Given the description of an element on the screen output the (x, y) to click on. 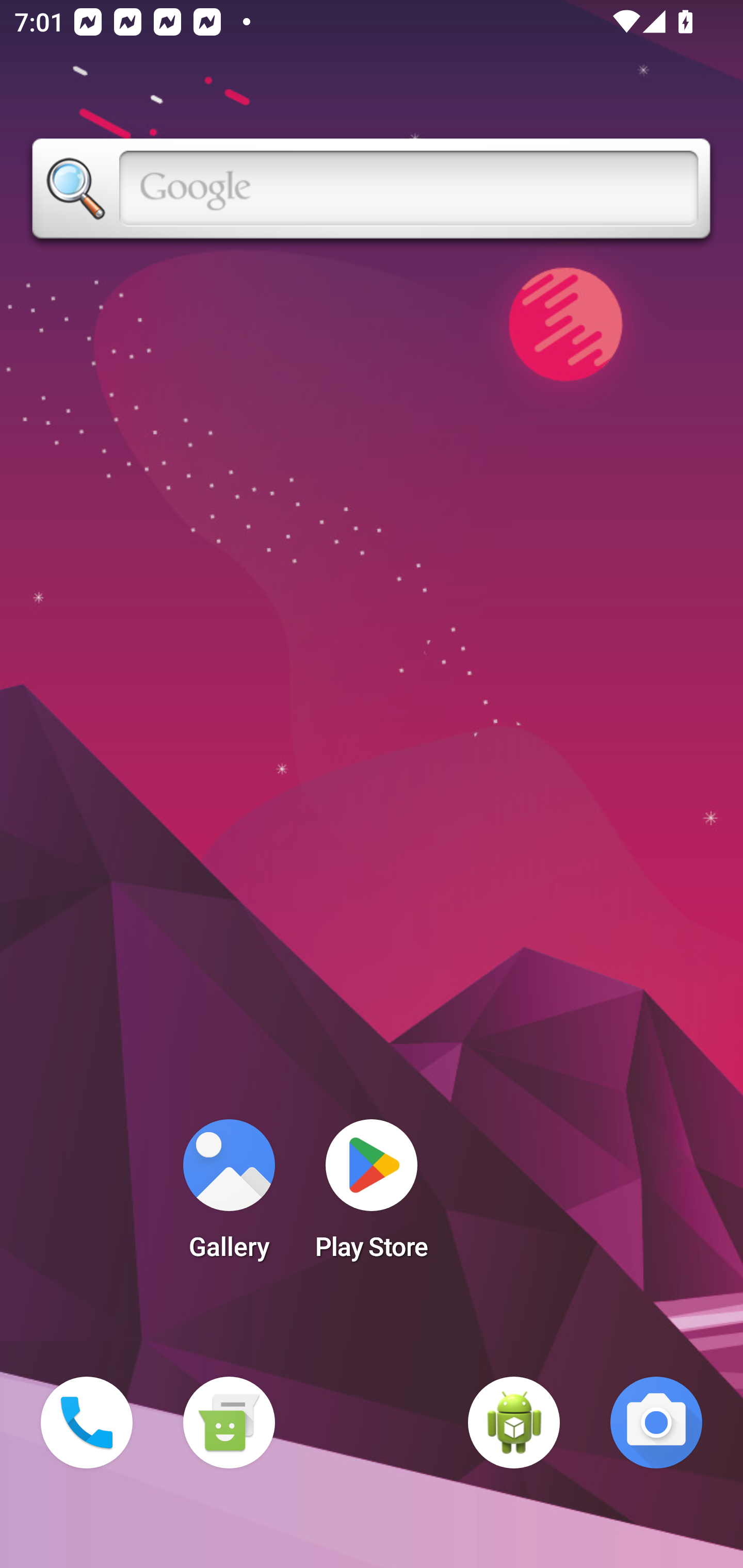
Gallery (228, 1195)
Play Store (371, 1195)
Phone (86, 1422)
Messaging (228, 1422)
WebView Browser Tester (513, 1422)
Camera (656, 1422)
